Given the description of an element on the screen output the (x, y) to click on. 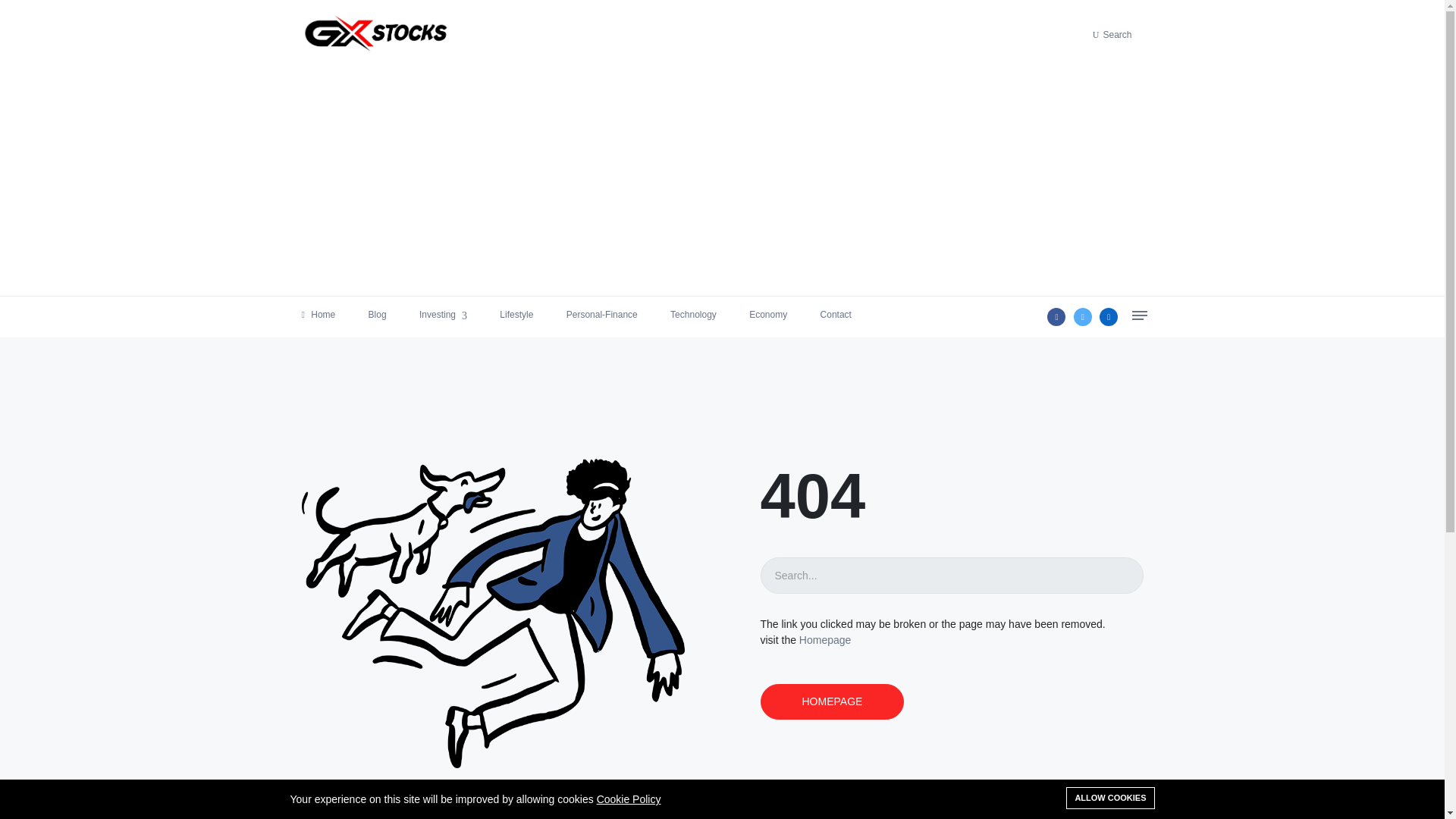
Search (1117, 33)
Home (318, 314)
Economy (768, 314)
Contact (836, 314)
Facebook (1055, 316)
Blog (377, 314)
Investing (443, 314)
Technology (692, 314)
Personal-Finance (601, 314)
Twitter (1083, 316)
Lifestyle (515, 314)
Linkedin (1108, 316)
